Given the description of an element on the screen output the (x, y) to click on. 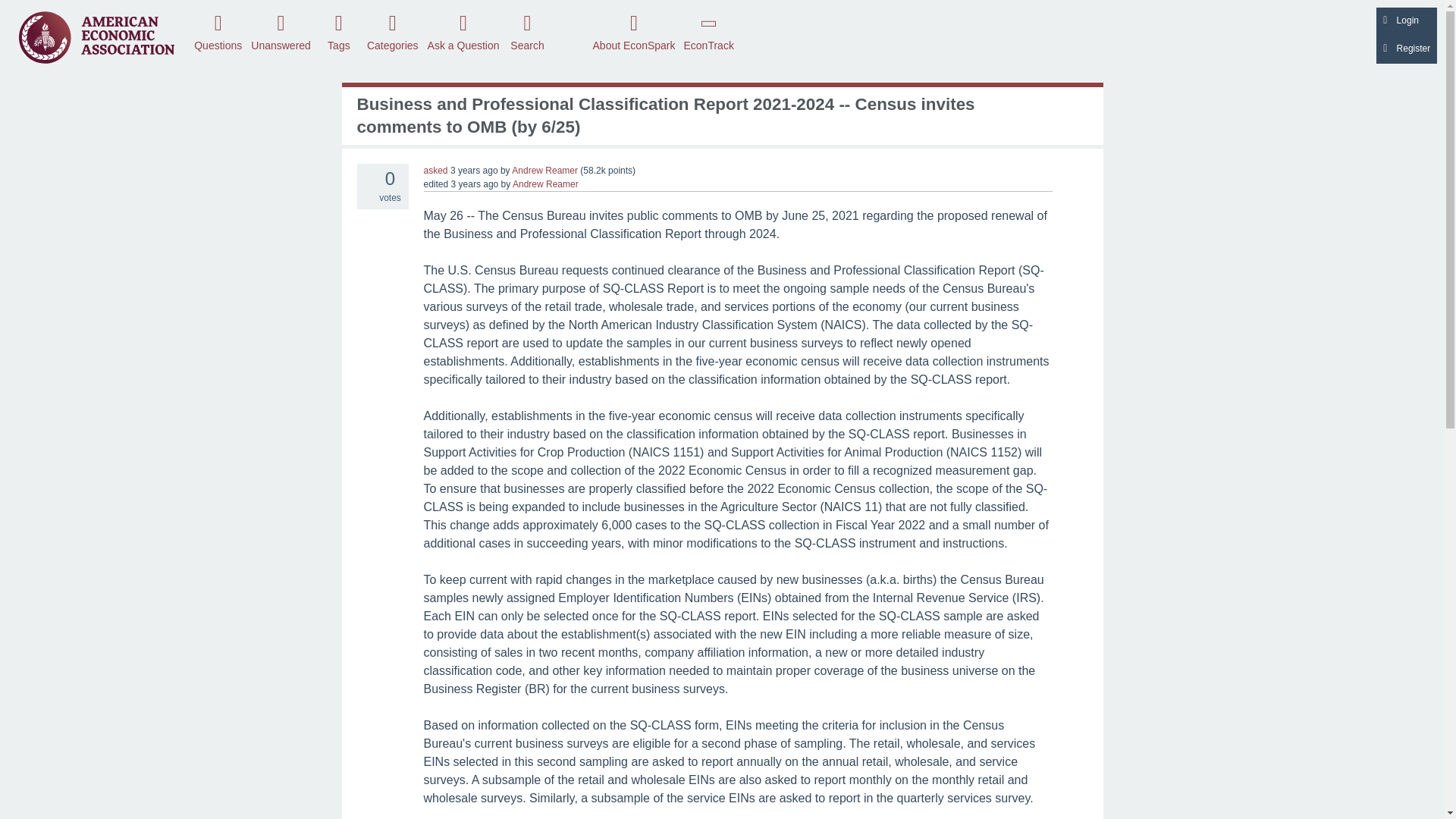
Click to vote up (365, 175)
EconTrack (707, 31)
Unanswered (280, 31)
Click to vote down (365, 197)
Tags (338, 31)
Economics Forum (96, 37)
asked (434, 170)
Andrew Reamer (545, 170)
Ask a Question (463, 31)
Categories (392, 31)
